Given the description of an element on the screen output the (x, y) to click on. 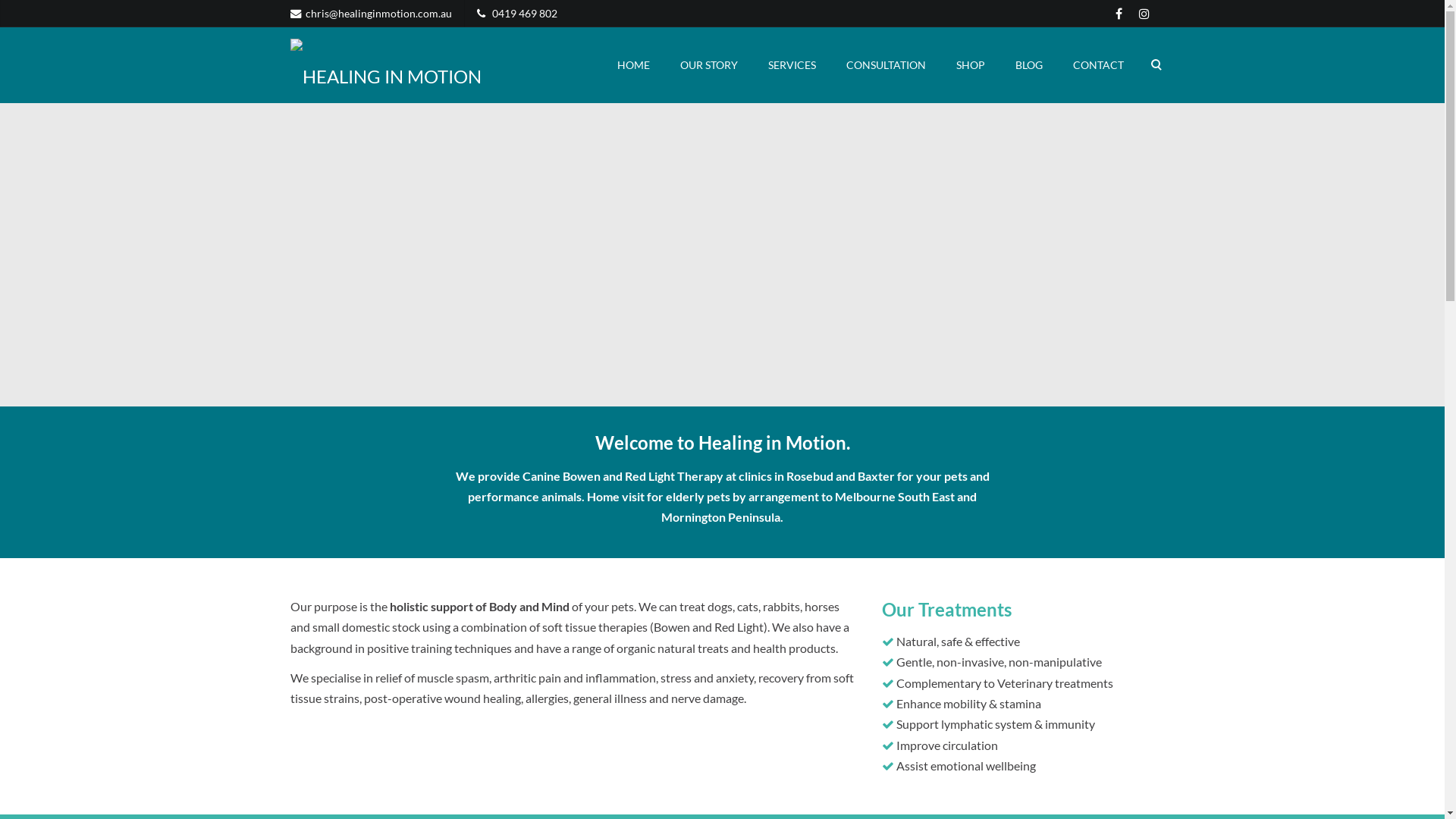
chris@healinginmotion.com.au Element type: text (377, 12)
BLOG Element type: text (1028, 65)
CONTACT Element type: text (1097, 65)
SHOP Element type: text (969, 65)
0419 469 802 Element type: text (523, 12)
HOME Element type: text (633, 65)
OUR STORY Element type: text (708, 65)
CONSULTATION Element type: text (886, 65)
SERVICES Element type: text (791, 65)
